Given the description of an element on the screen output the (x, y) to click on. 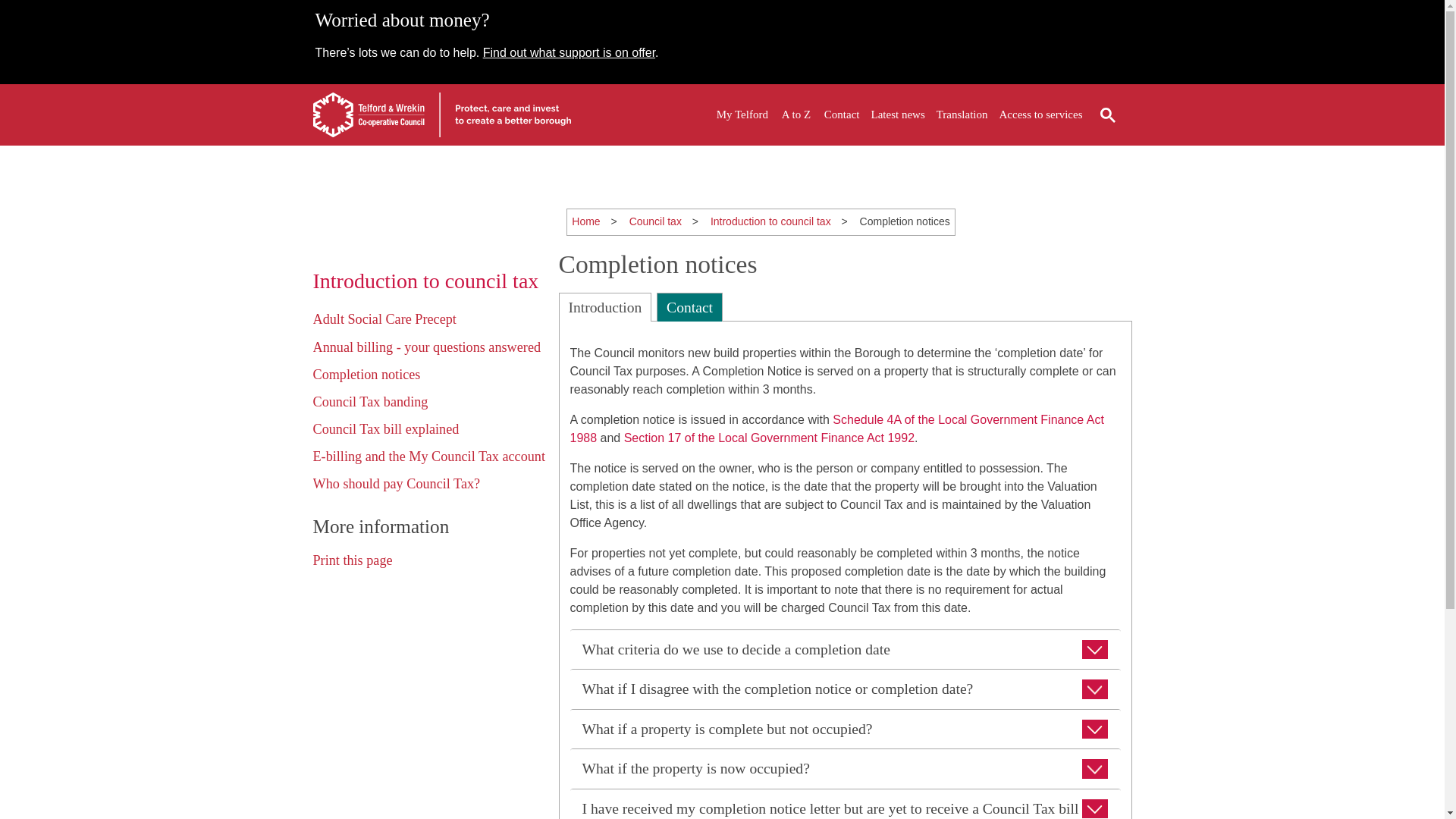
View completion notice legislation  (836, 428)
Translation (962, 114)
Access to services (1040, 114)
Home (585, 221)
To view legislation for completion notices (769, 437)
Latest news (897, 114)
A to Z (795, 114)
My Telford (742, 114)
Contact (842, 114)
Search (1107, 114)
